Given the description of an element on the screen output the (x, y) to click on. 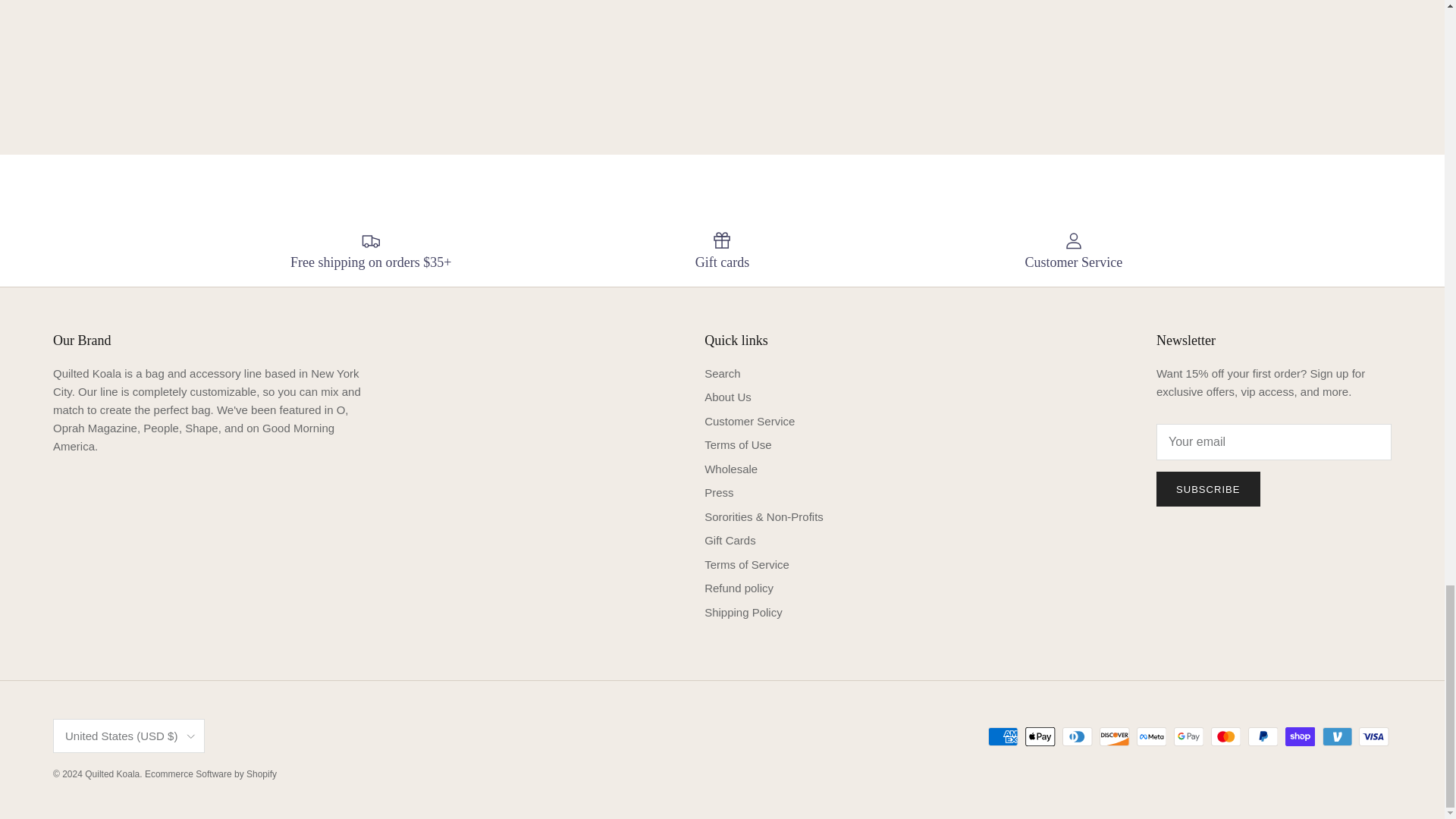
Mastercard (1225, 736)
Meta Pay (1151, 736)
Diners Club (1077, 736)
Discover (1114, 736)
Google Pay (1188, 736)
Apple Pay (1040, 736)
American Express (1002, 736)
